Given the description of an element on the screen output the (x, y) to click on. 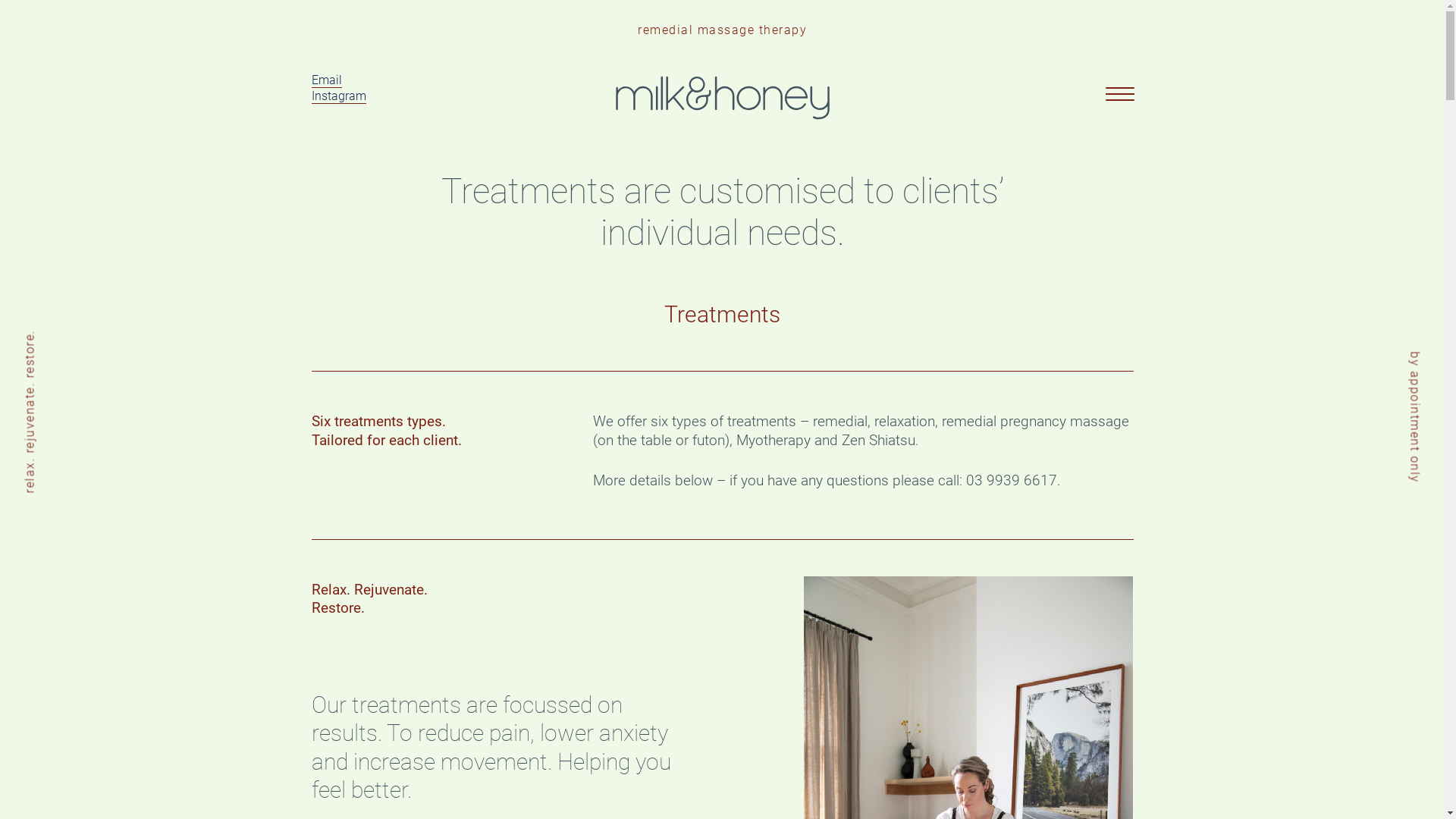
Email Element type: text (325, 79)
Send Element type: text (530, 587)
Instagram Element type: text (337, 95)
